Given the description of an element on the screen output the (x, y) to click on. 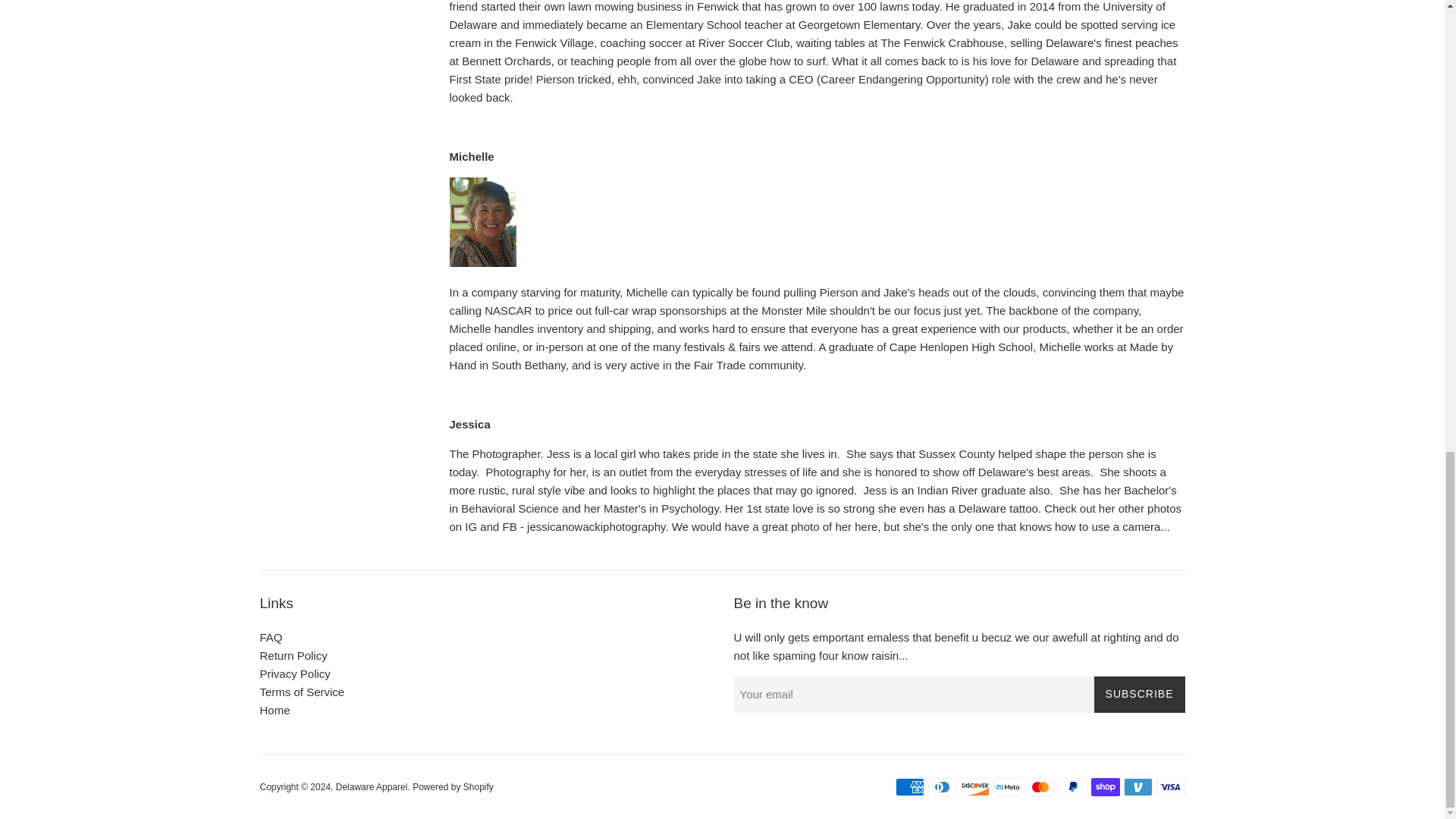
Home (274, 709)
FAQ (270, 636)
Powered by Shopify (452, 787)
Discover (973, 787)
Meta Pay (1007, 787)
Diners Club (942, 787)
Delaware Apparel (371, 787)
Privacy Policy (294, 673)
Mastercard (1039, 787)
SUBSCRIBE (1139, 694)
Shop Pay (1104, 787)
American Express (909, 787)
Return Policy (292, 655)
Terms of Service (301, 691)
PayPal (1072, 787)
